Given the description of an element on the screen output the (x, y) to click on. 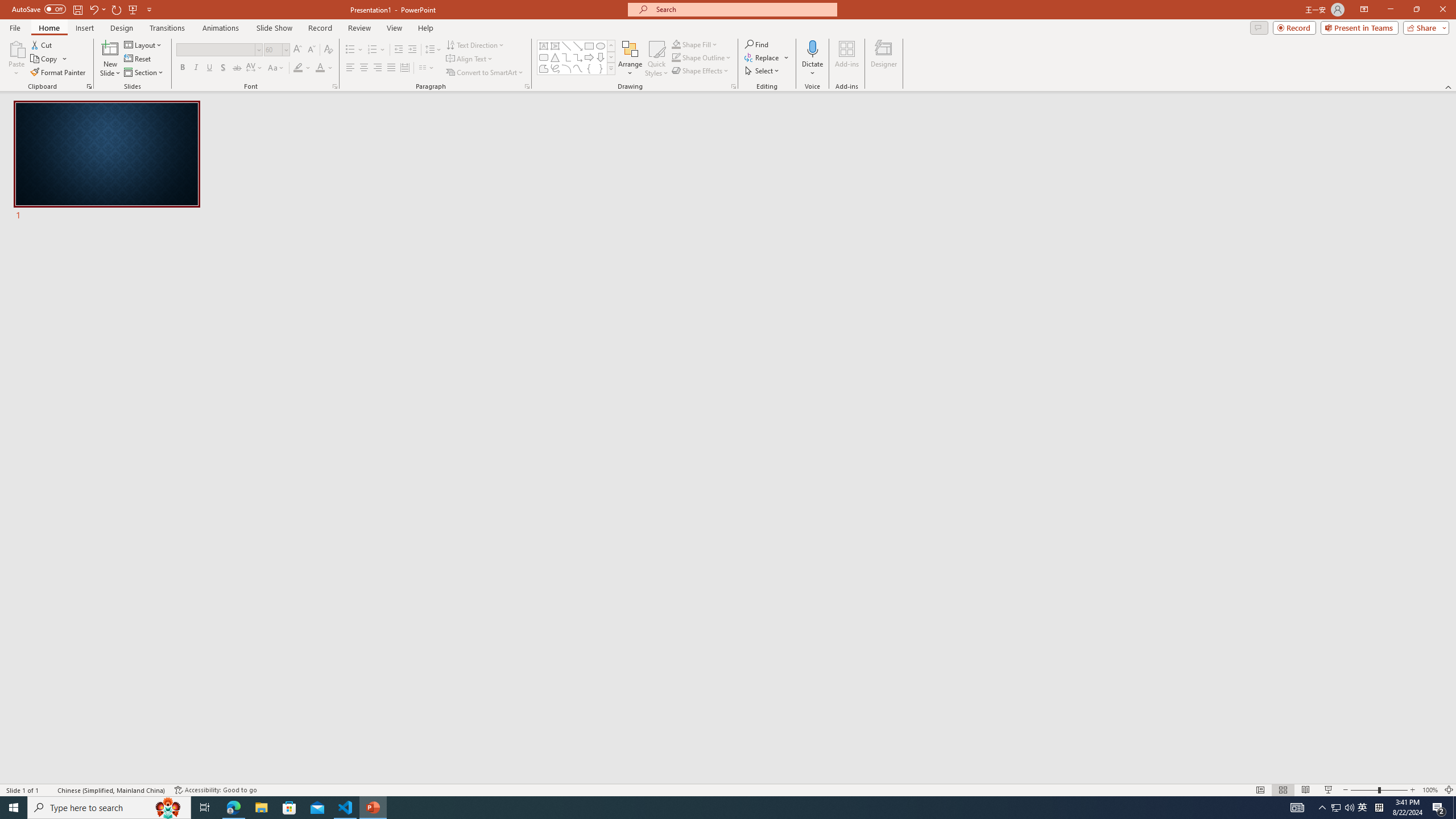
Align Text (470, 58)
Cut (42, 44)
Clear Formatting (327, 49)
Convert to SmartArt (485, 72)
Connector: Elbow Arrow (577, 57)
Distributed (404, 67)
Shape Effects (700, 69)
